Given the description of an element on the screen output the (x, y) to click on. 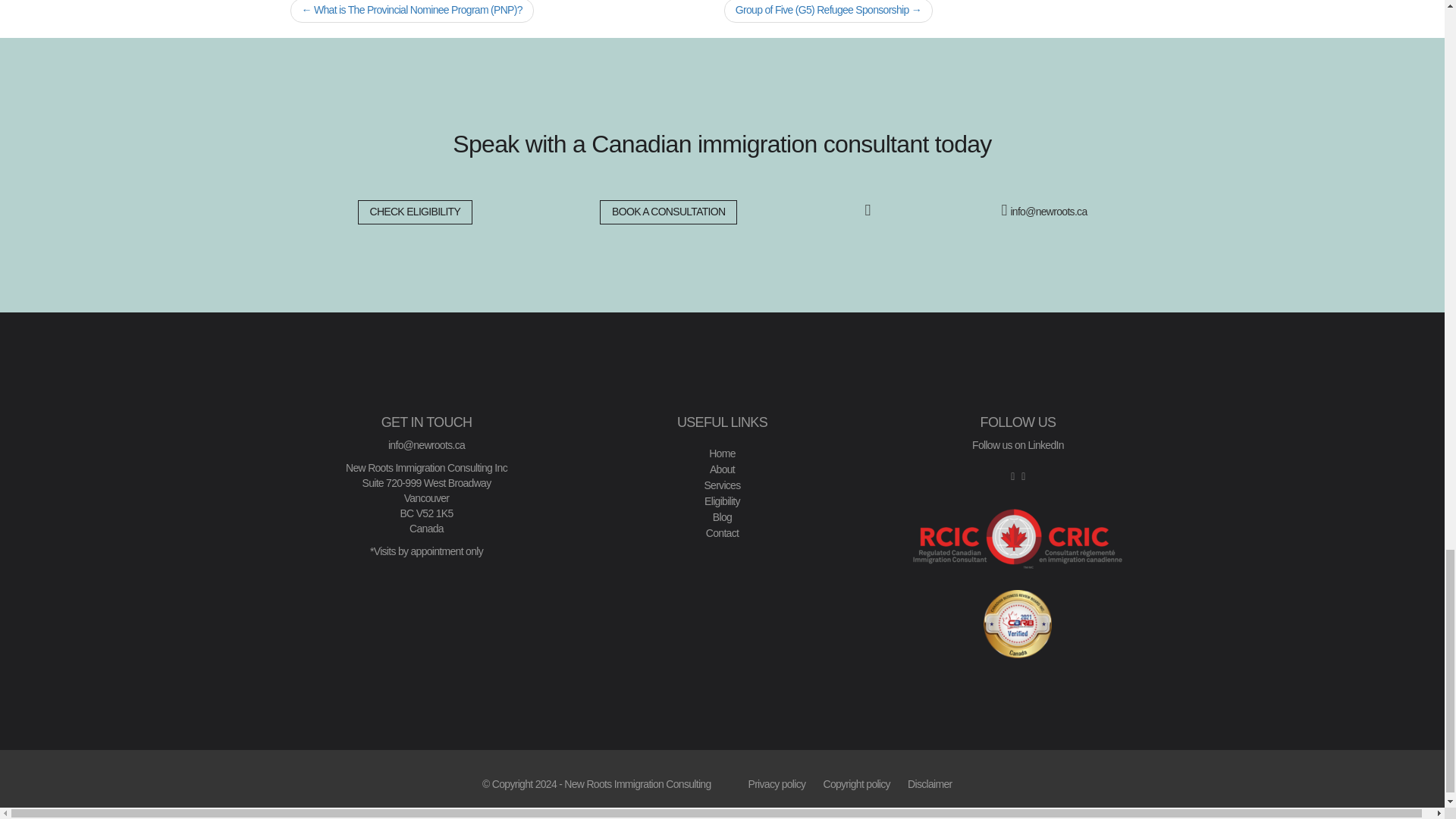
CHECK ELIGIBILITY (415, 211)
BOOK A CONSULTATION (667, 211)
New Roots Immigration Consulting (637, 784)
